Given the description of an element on the screen output the (x, y) to click on. 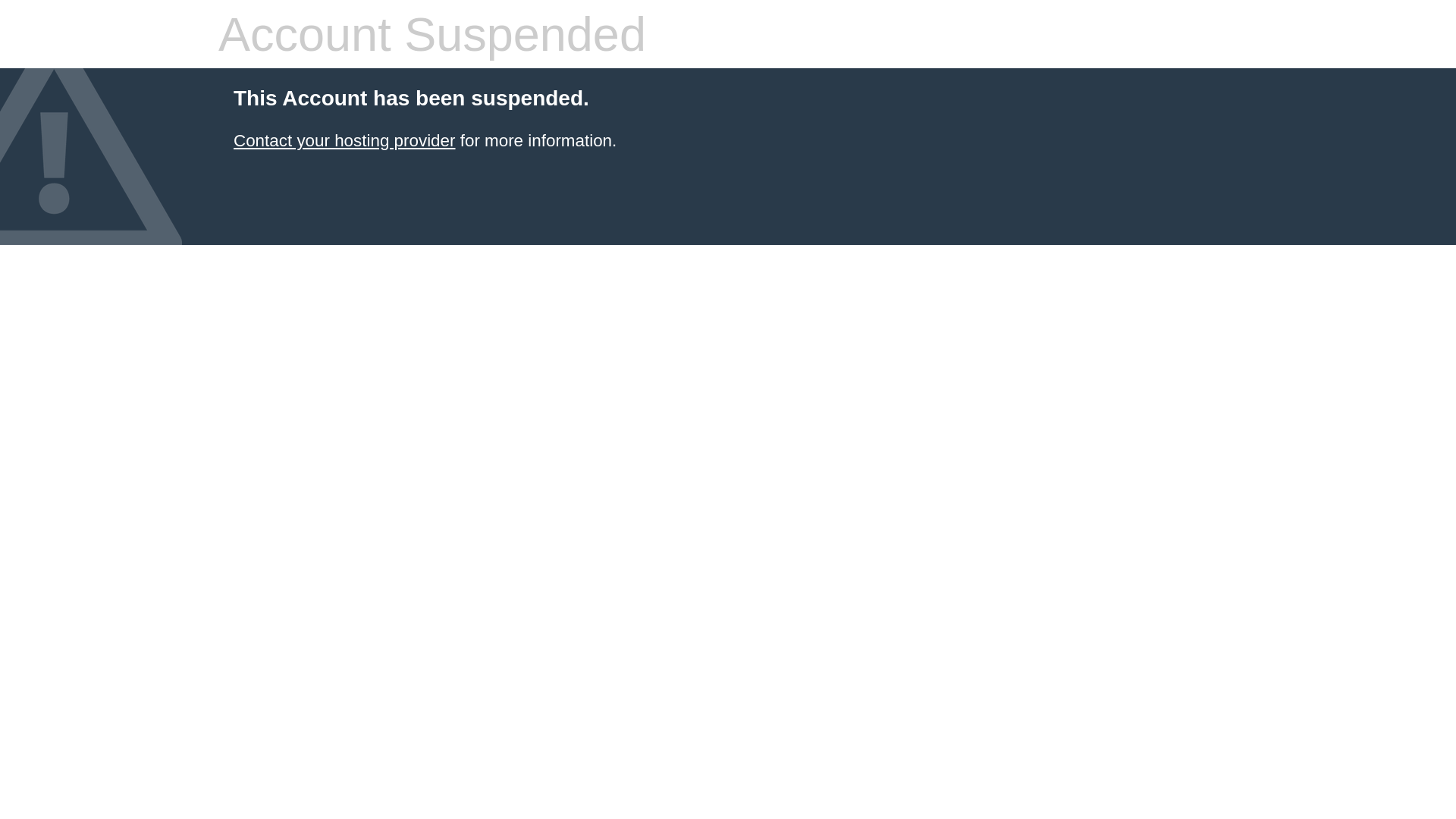
Contact your hosting provider Element type: text (344, 140)
